Given the description of an element on the screen output the (x, y) to click on. 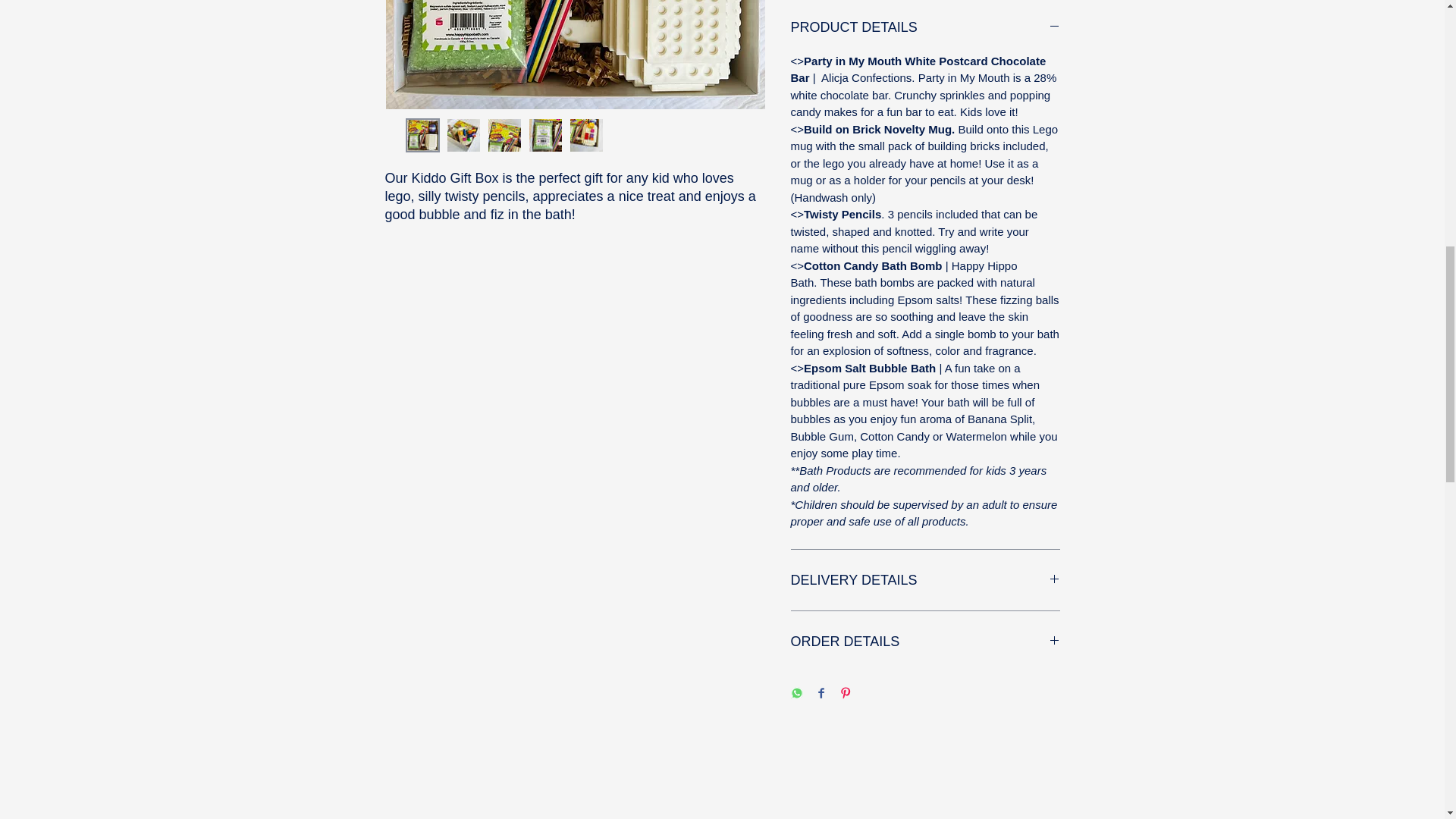
ORDER DETAILS (924, 641)
PRODUCT DETAILS (924, 27)
DELIVERY DETAILS (924, 580)
